Given the description of an element on the screen output the (x, y) to click on. 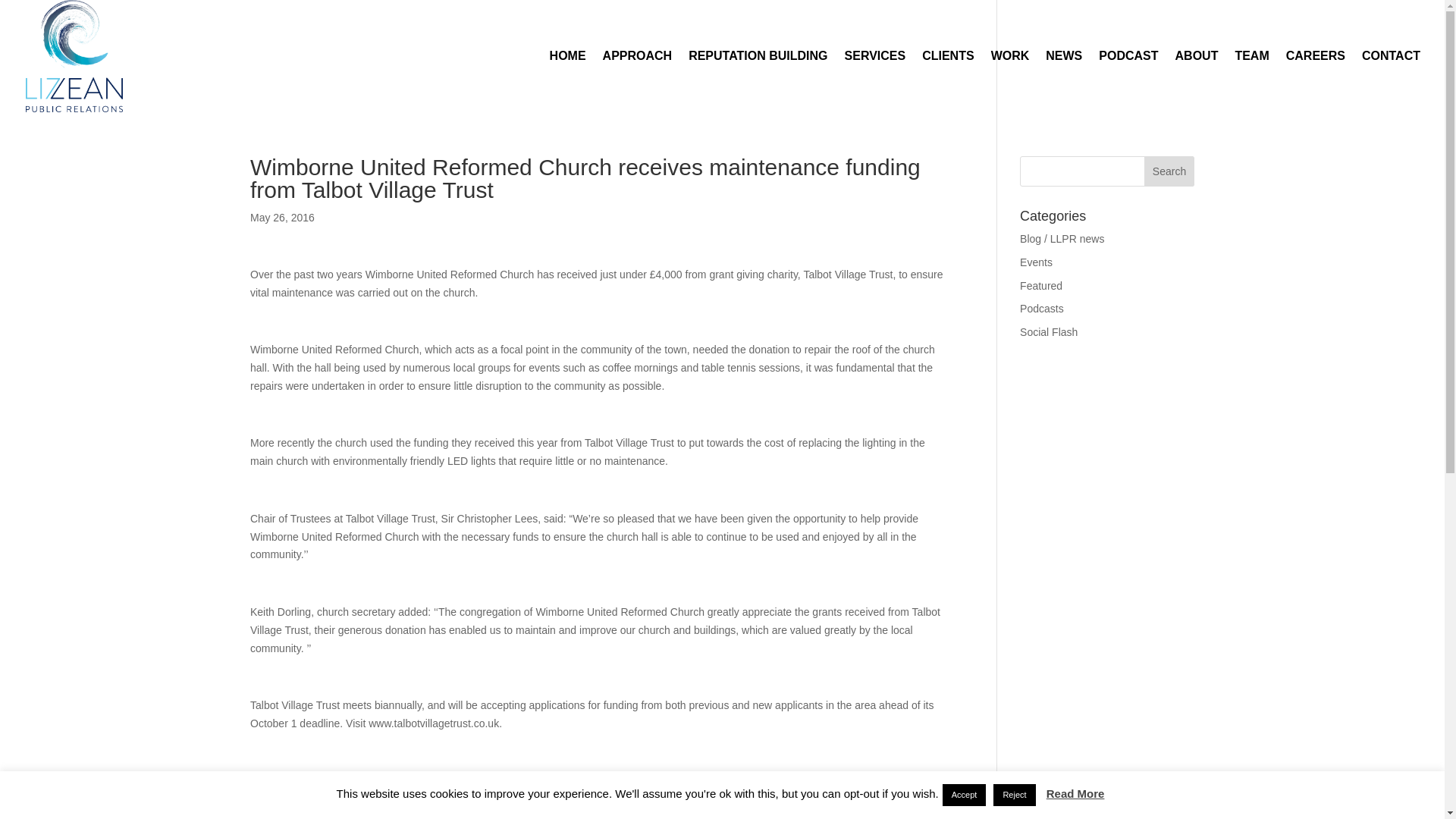
CAREERS (1315, 81)
Podcasts (1042, 308)
Social Flash (1048, 331)
Search (1168, 171)
REPUTATION BUILDING (757, 81)
Featured (1041, 285)
Search (1168, 171)
CONTACT (1391, 81)
APPROACH (637, 81)
PODCAST (1128, 81)
